Given the description of an element on the screen output the (x, y) to click on. 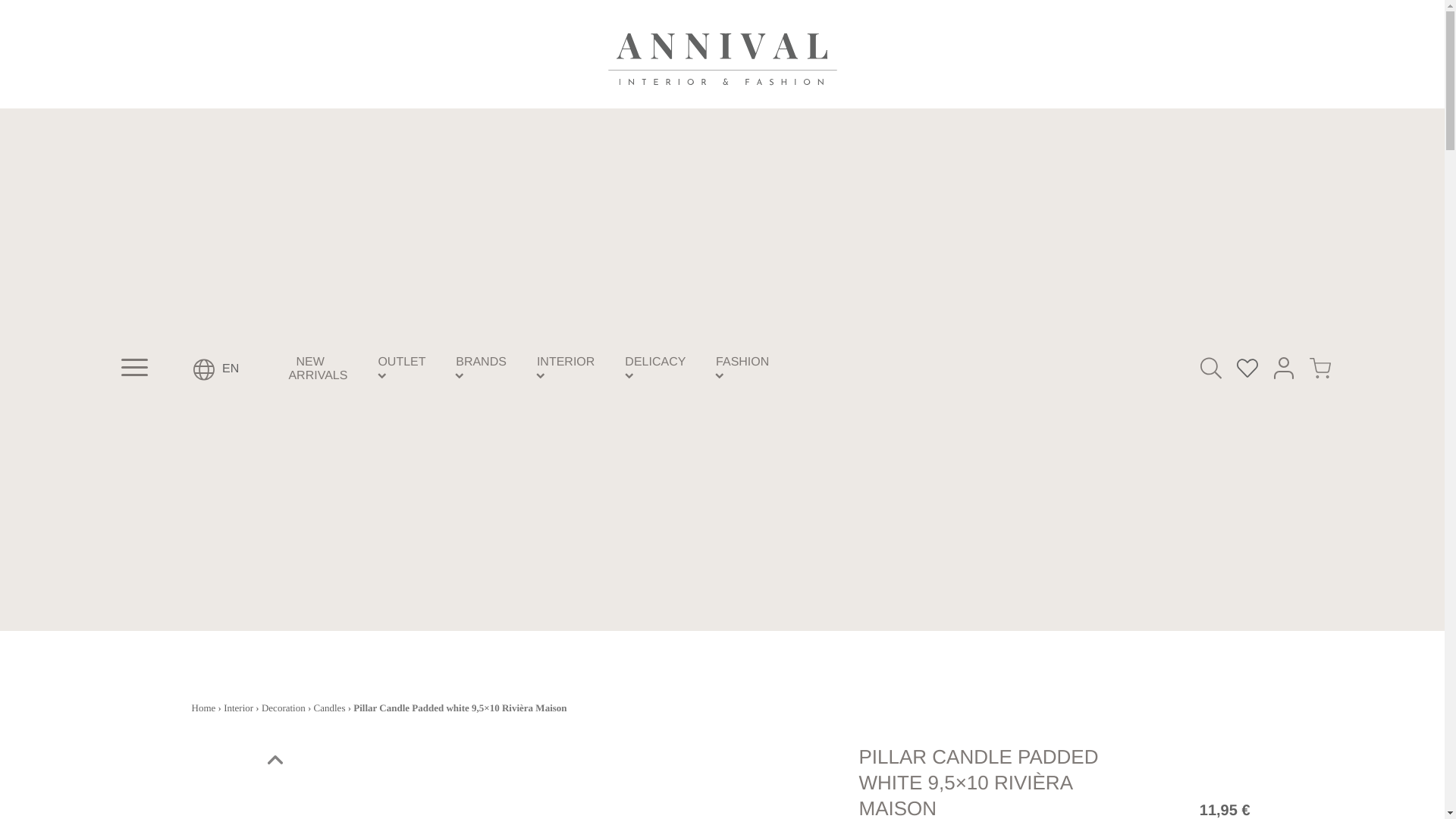
NEW ARRIVALS (321, 368)
OUTLET (400, 362)
